Given the description of an element on the screen output the (x, y) to click on. 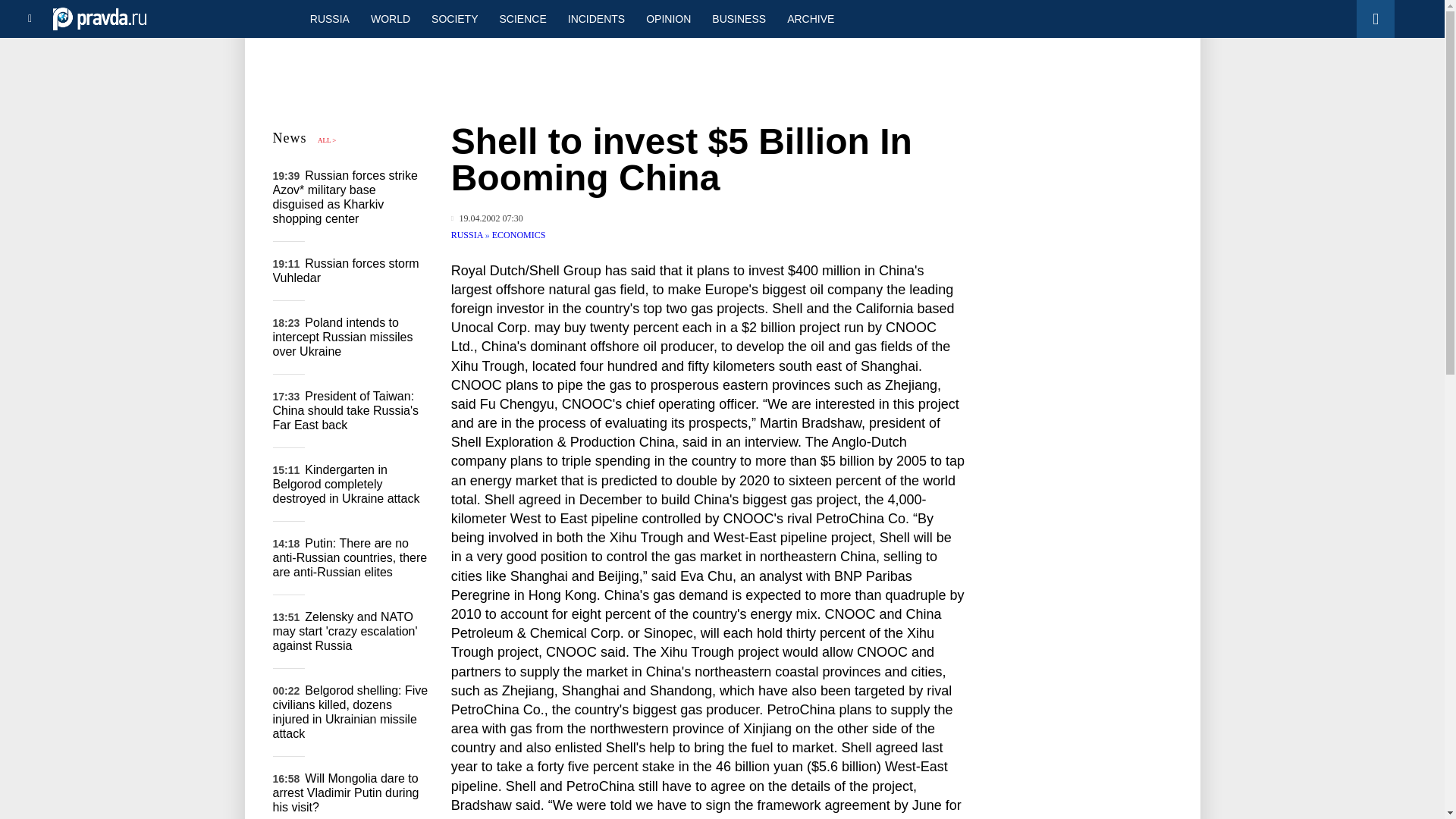
RUSSIA (467, 235)
SOCIETY (453, 18)
ECONOMICS (519, 235)
BUSINESS (738, 18)
OPINION (667, 18)
INCIDENTS (595, 18)
ARCHIVE (810, 18)
RUSSIA (329, 18)
